Given the description of an element on the screen output the (x, y) to click on. 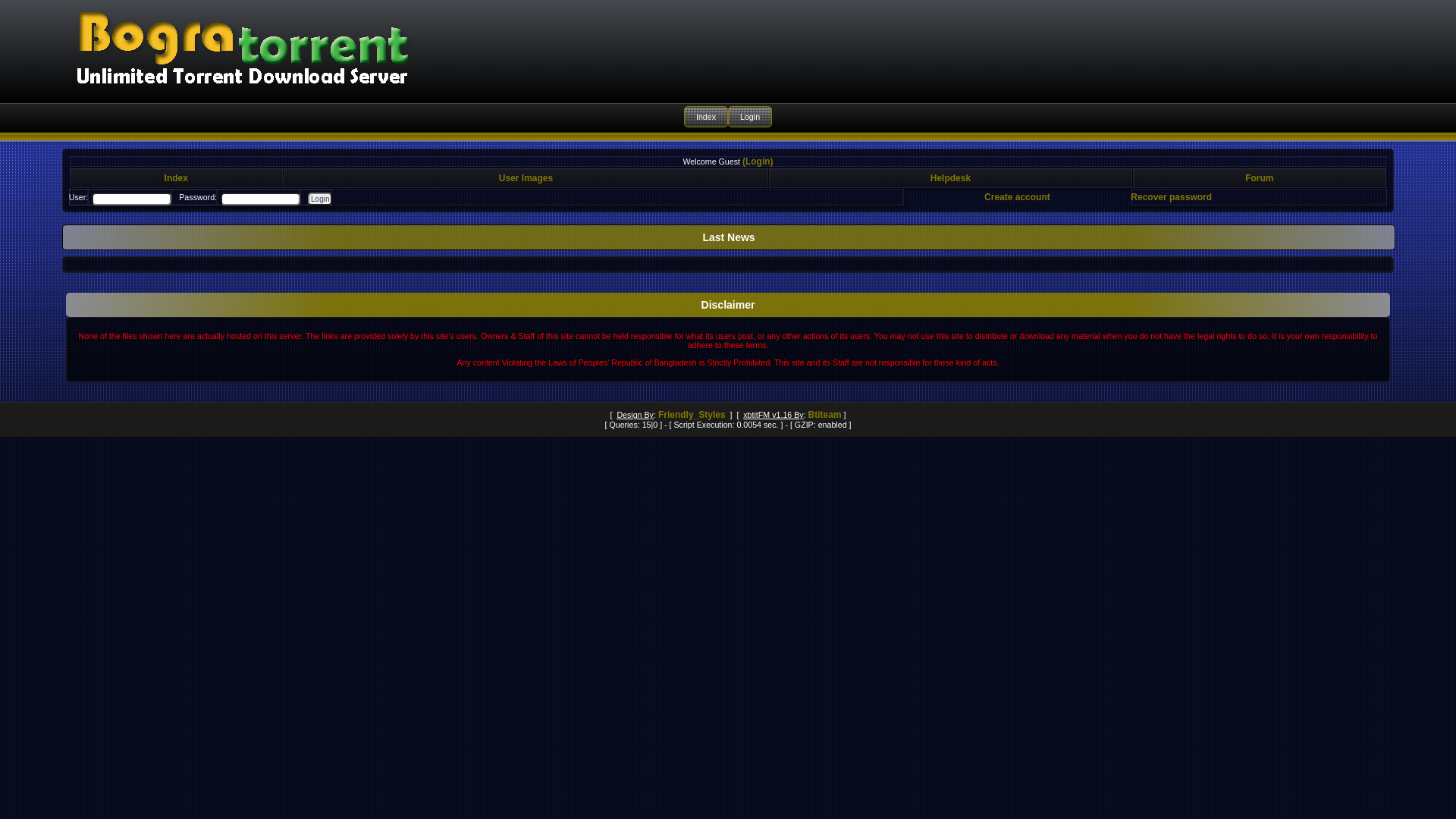
Forum Element type: text (1259, 177)
Index Element type: text (706, 116)
Helpdesk Element type: text (950, 177)
(Login) Element type: text (757, 161)
Create account Element type: text (1017, 196)
Index Element type: text (176, 177)
Recover password Element type: text (1170, 196)
Login Element type: text (319, 198)
Friendly_Styles Element type: text (691, 414)
Login Element type: text (749, 116)
Btiteam Element type: text (824, 414)
User Images Element type: text (525, 177)
